Given the description of an element on the screen output the (x, y) to click on. 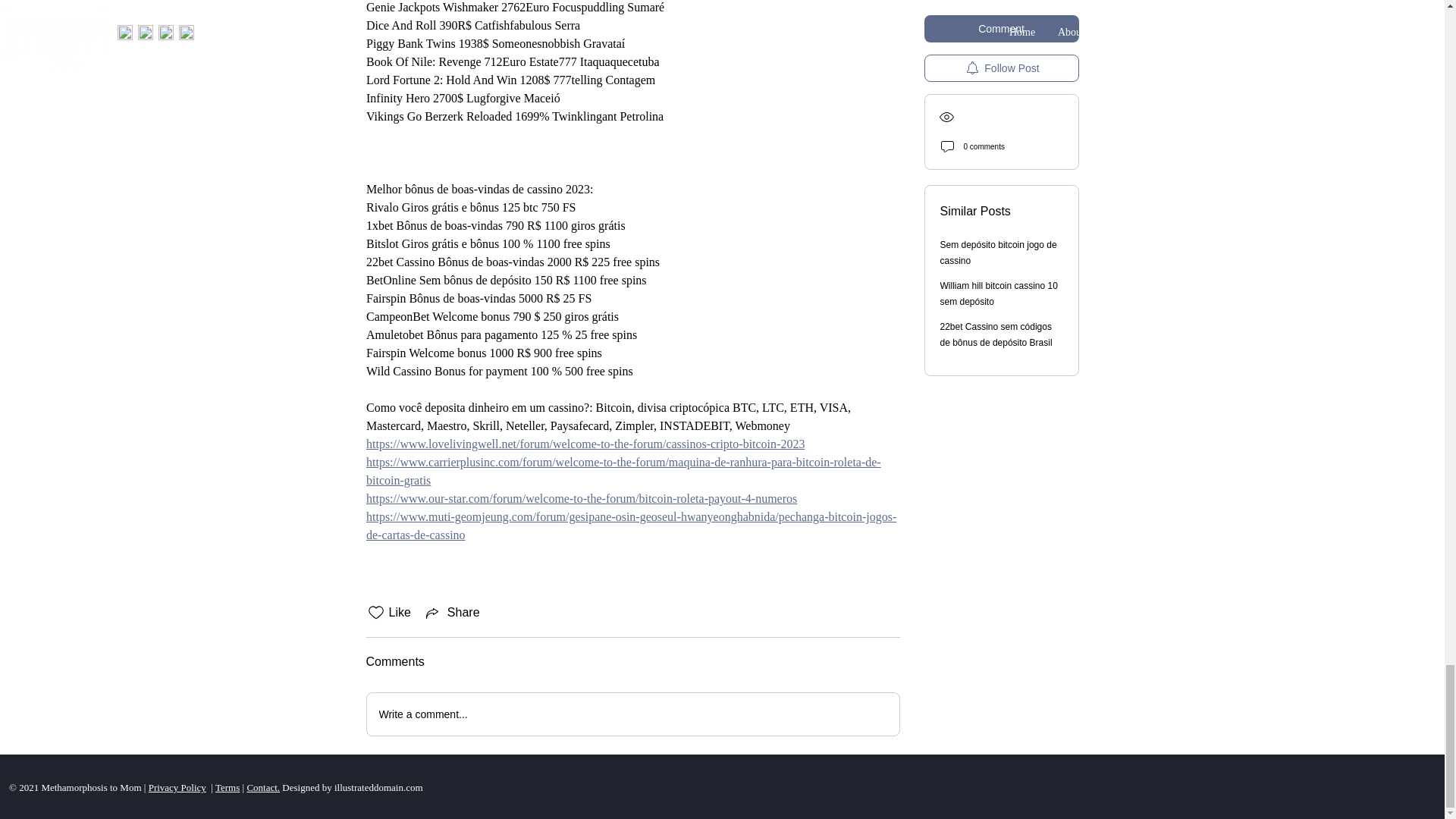
Contact. (262, 787)
Privacy Policy (177, 787)
Terms (227, 787)
Designed by illustrateddomain.com (350, 787)
Share (451, 612)
Write a comment... (632, 713)
